Given the description of an element on the screen output the (x, y) to click on. 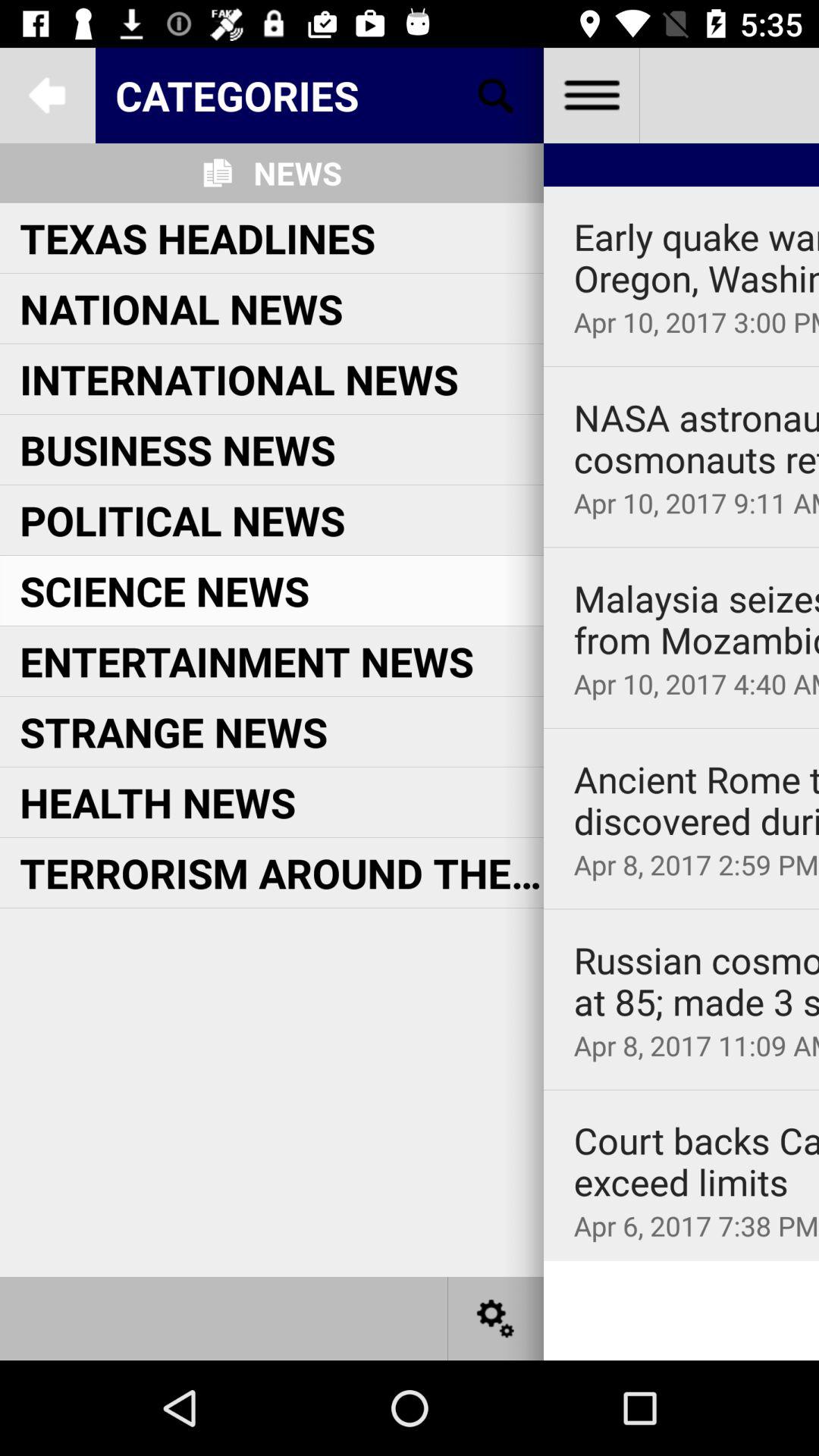
click the icon above strange news icon (246, 660)
